Given the description of an element on the screen output the (x, y) to click on. 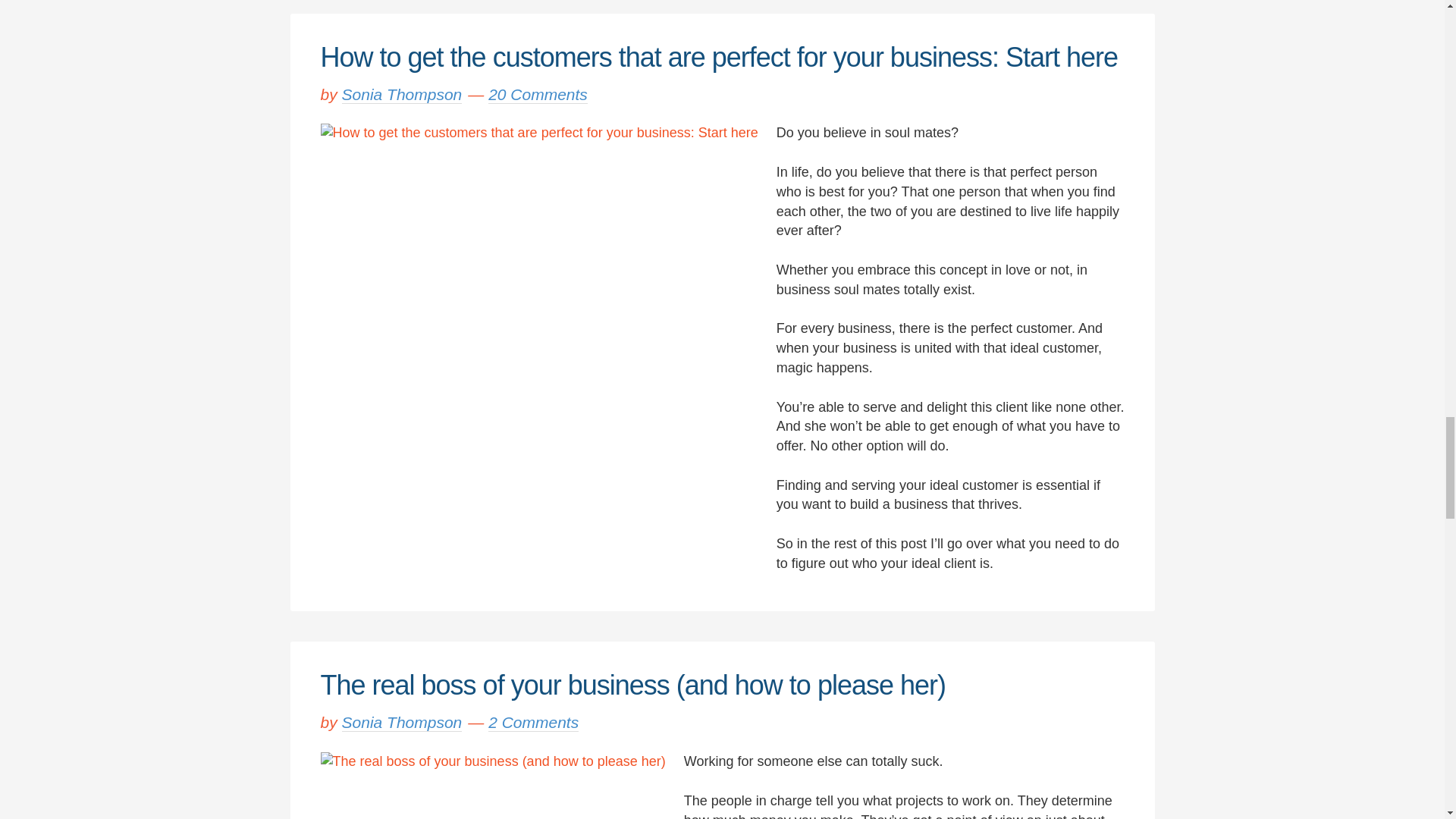
Sonia Thompson (402, 94)
Sonia Thompson (402, 722)
20 Comments (537, 94)
2 Comments (532, 722)
